Given the description of an element on the screen output the (x, y) to click on. 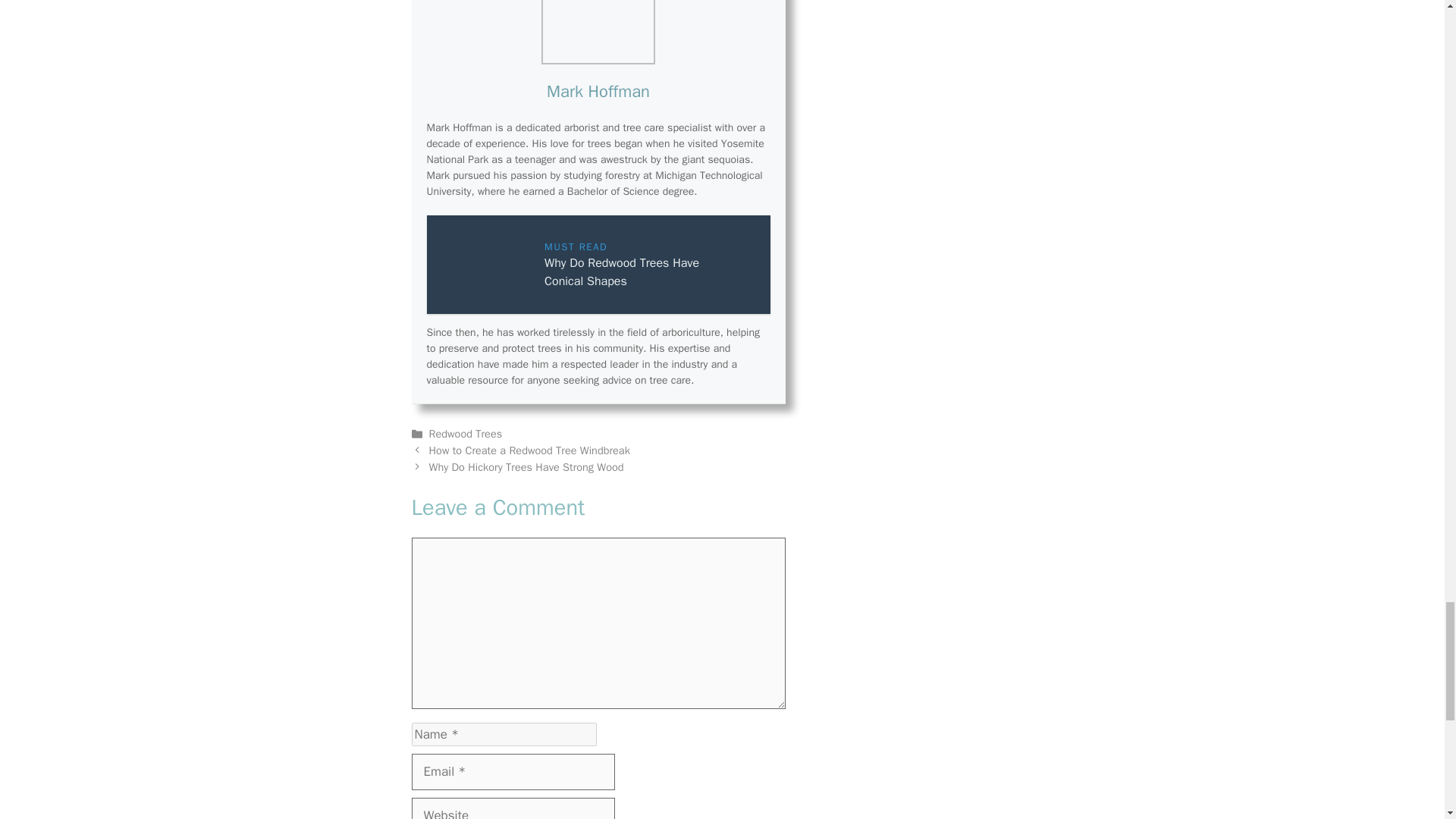
Mark Hoffman (598, 91)
